Given the description of an element on the screen output the (x, y) to click on. 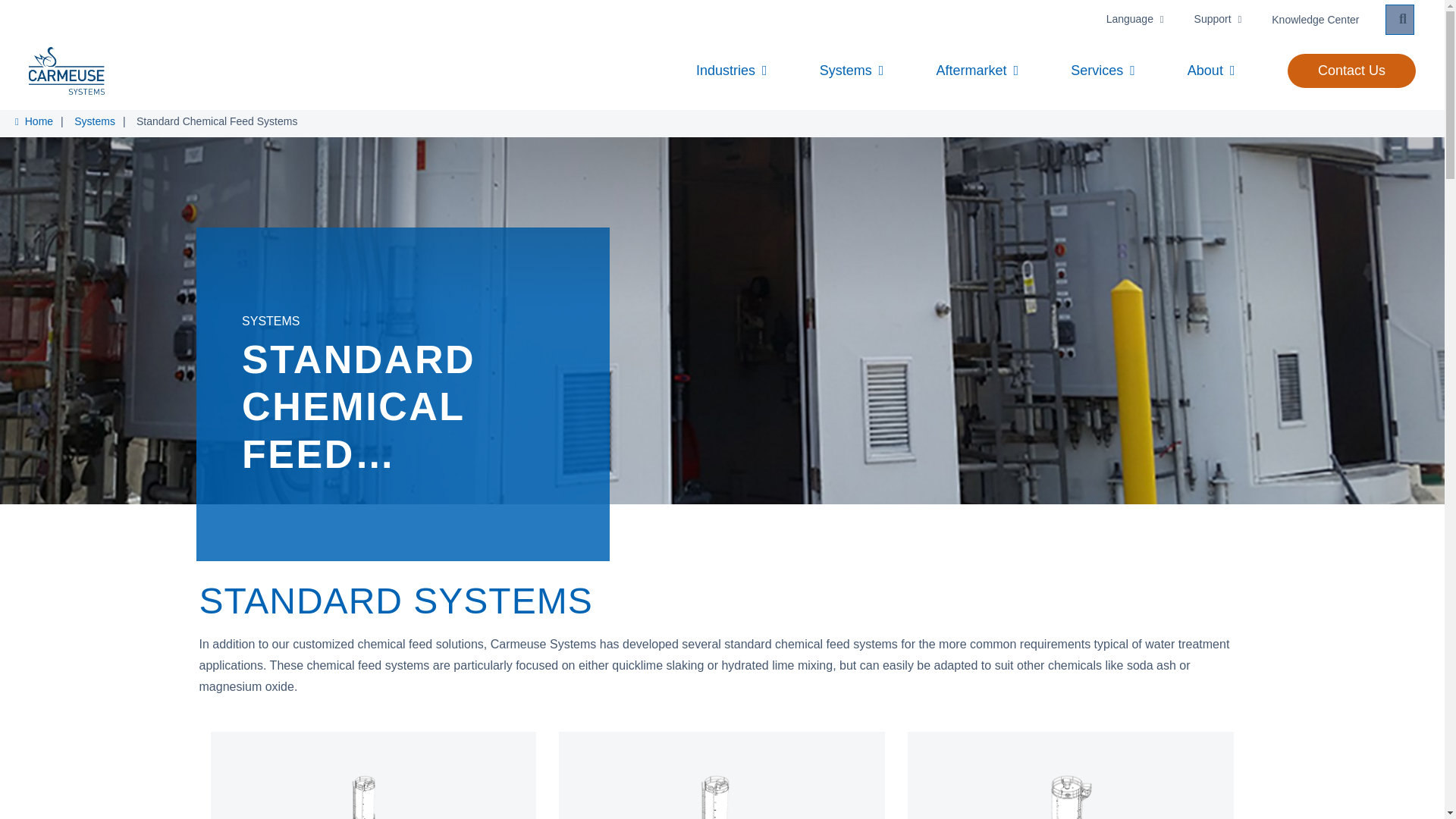
Knowledge Center (1315, 19)
Language (1134, 19)
Systems (851, 70)
Carmeuse Systems Logo Link (66, 70)
Industries (731, 70)
Support (1218, 19)
